Given the description of an element on the screen output the (x, y) to click on. 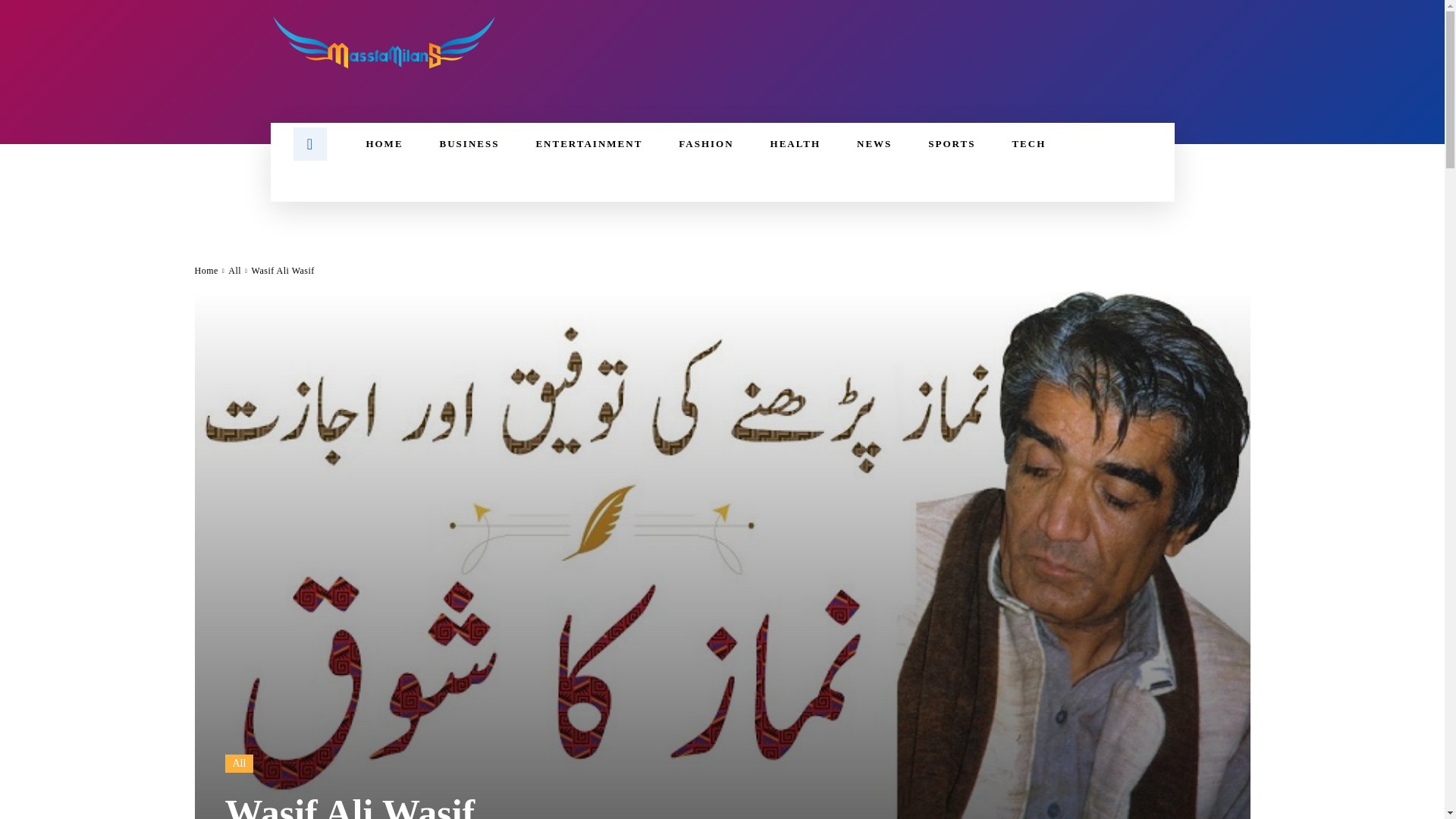
All (238, 763)
Home (204, 270)
NEWS (874, 143)
FASHION (706, 143)
TECH (1028, 143)
All (234, 270)
BUSINESS (470, 143)
HEALTH (795, 143)
ENTERTAINMENT (588, 143)
HOME (383, 143)
SPORTS (951, 143)
View all posts in All (234, 270)
